Given the description of an element on the screen output the (x, y) to click on. 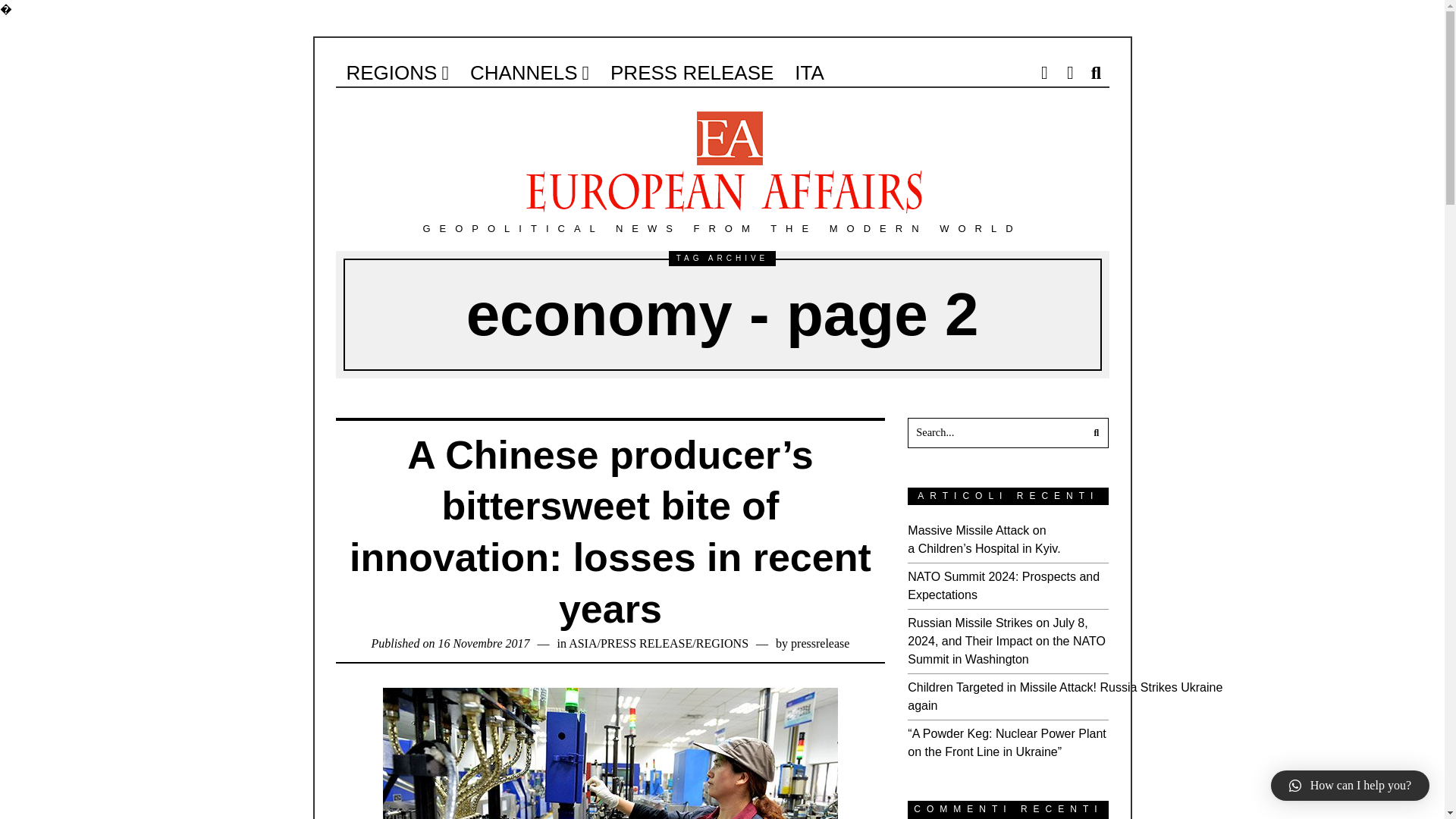
Go (1093, 432)
ITA (809, 72)
PRESS RELEASE (691, 72)
REGIONS (396, 72)
CHANNELS (529, 72)
pressrelease (819, 643)
ASIA (582, 643)
Facebook (1043, 72)
YouTube (1070, 72)
REGIONS (721, 643)
PRESS RELEASE (646, 643)
